Given the description of an element on the screen output the (x, y) to click on. 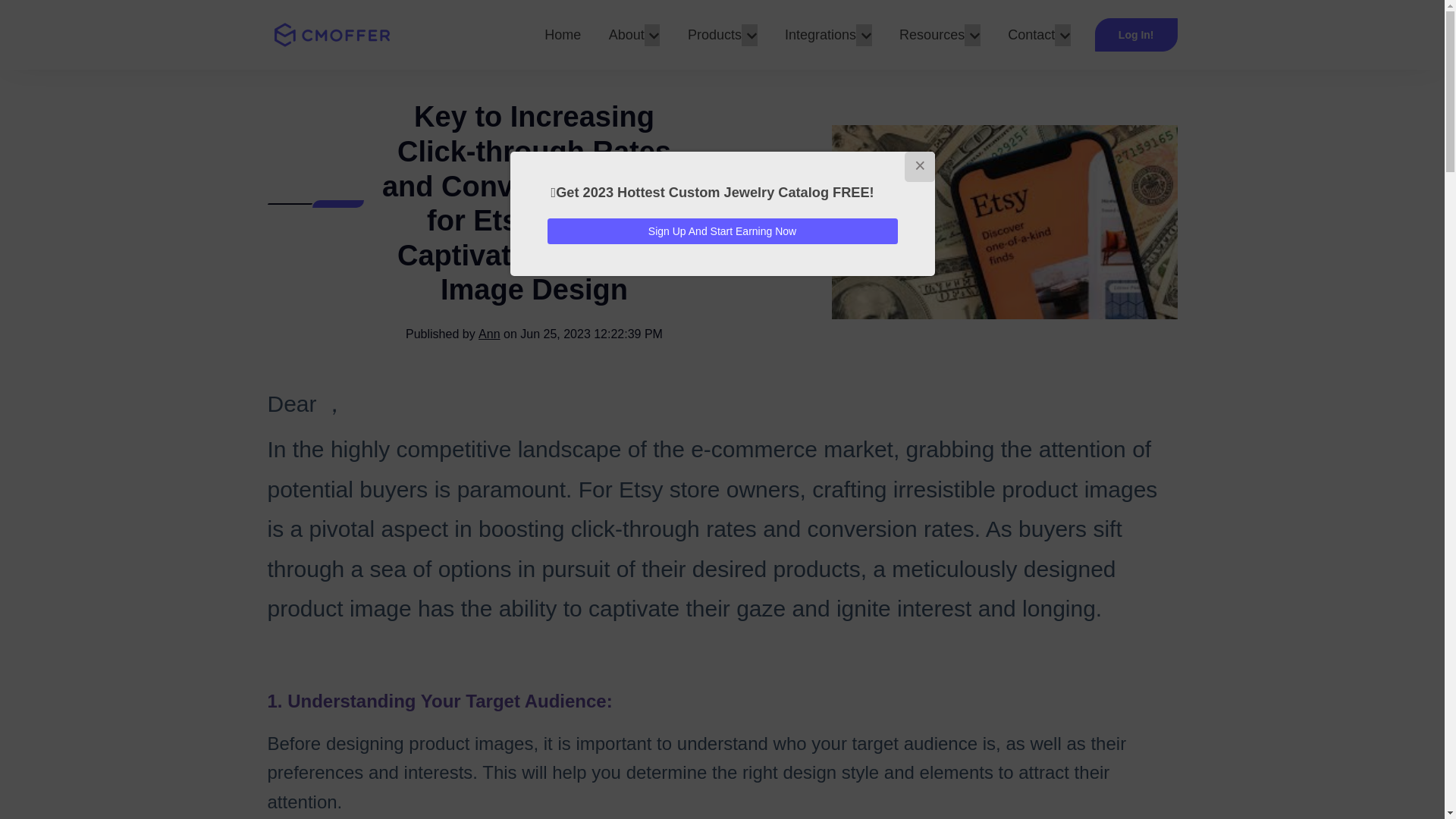
Show submenu for Integrations (864, 34)
Integrations (820, 34)
Show submenu for Products (749, 34)
About (626, 34)
Show submenu for About (653, 34)
Home (562, 34)
Products (714, 34)
Show submenu for Contact (1062, 34)
Show submenu for Resources (971, 34)
Contact (1030, 34)
Resources (931, 34)
